Given the description of an element on the screen output the (x, y) to click on. 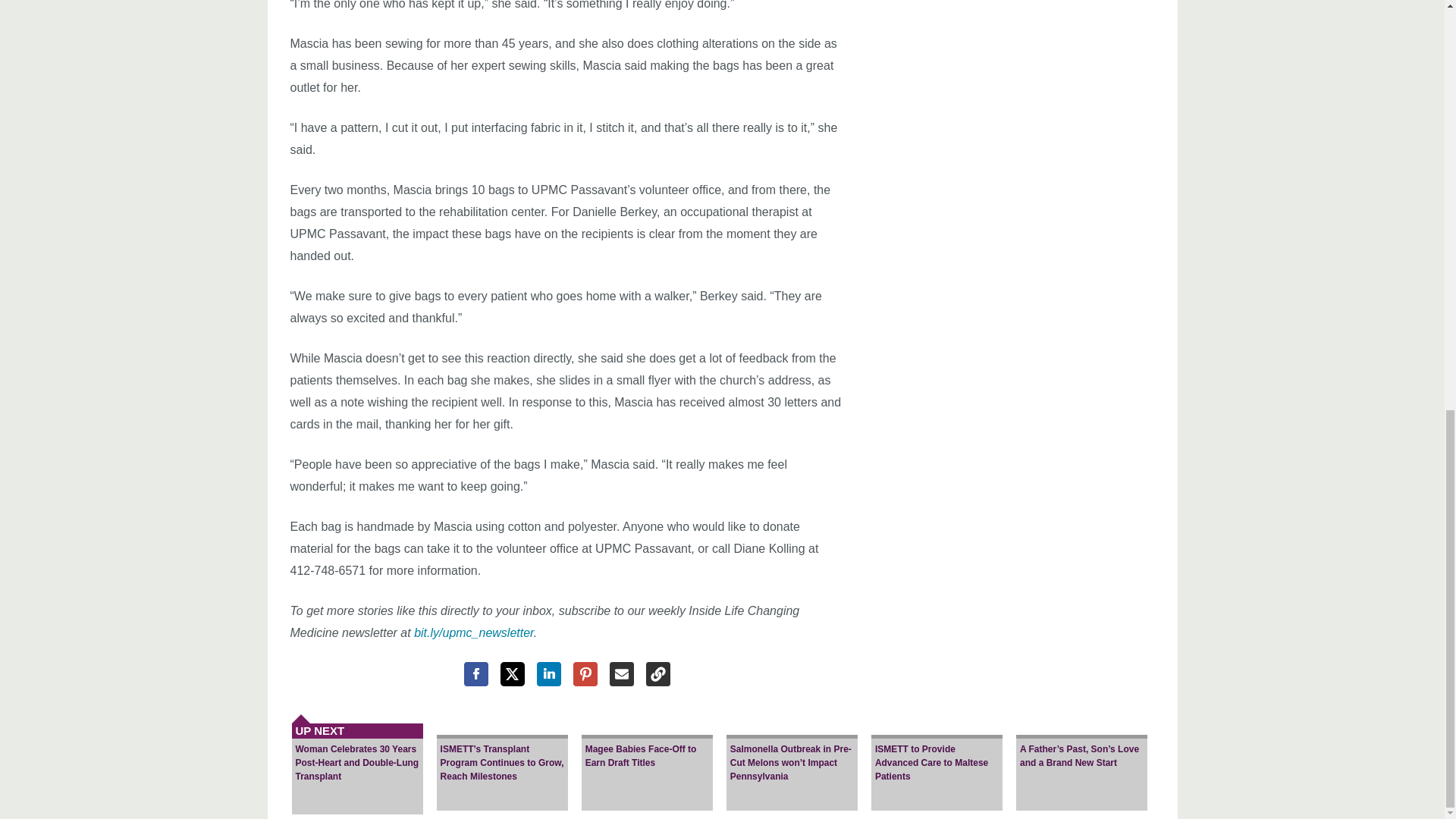
Copy to clipboard (657, 673)
Share on Facebook (475, 673)
Forward via email (621, 673)
ISMETT to Provide Advanced Care to Maltese Patients (936, 757)
Magee Babies Face-Off to Earn Draft Titles (646, 757)
Share on Pinterest (584, 673)
Share on LinkedIn (548, 673)
